Given the description of an element on the screen output the (x, y) to click on. 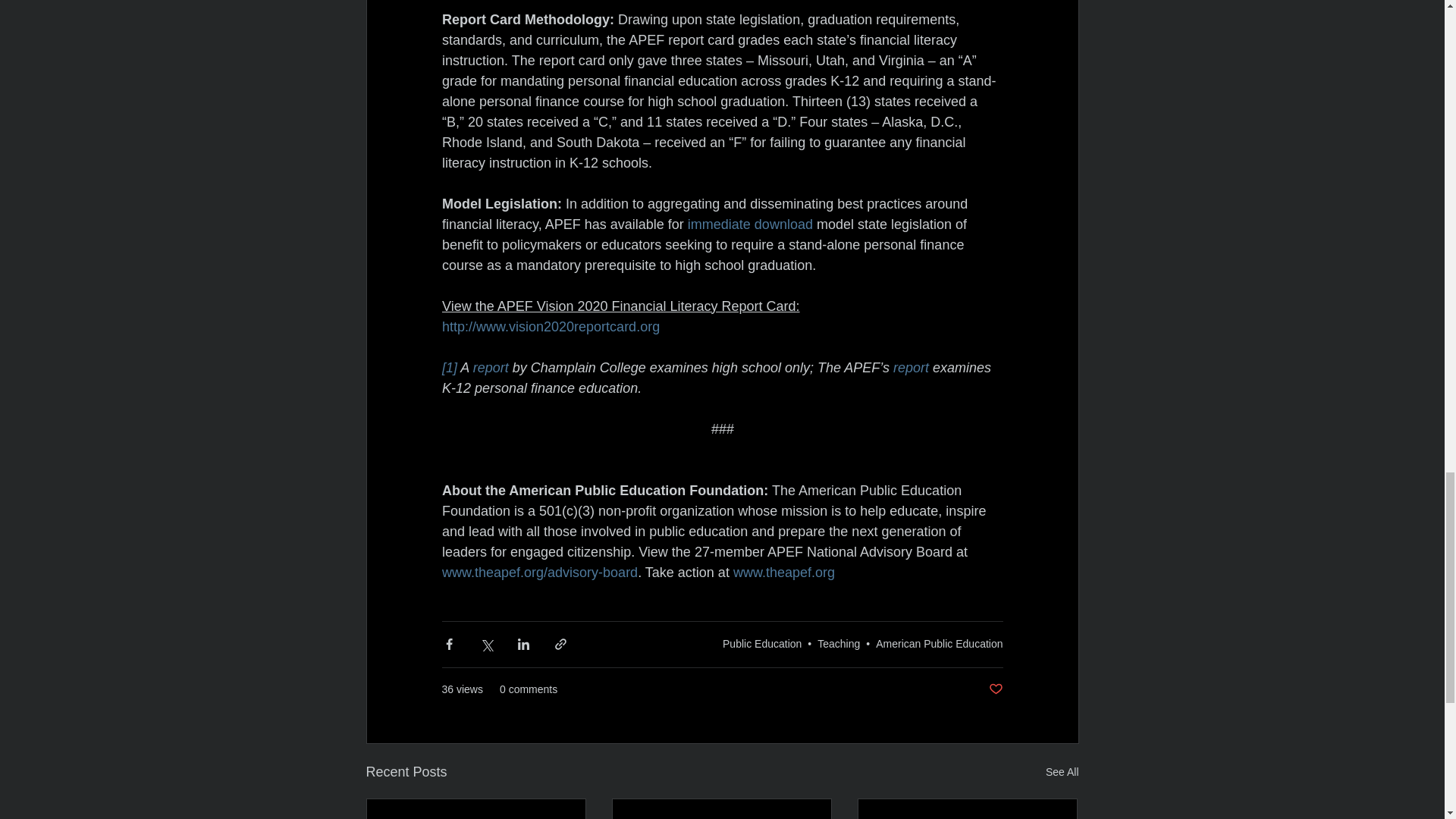
immediate download (749, 224)
